Given the description of an element on the screen output the (x, y) to click on. 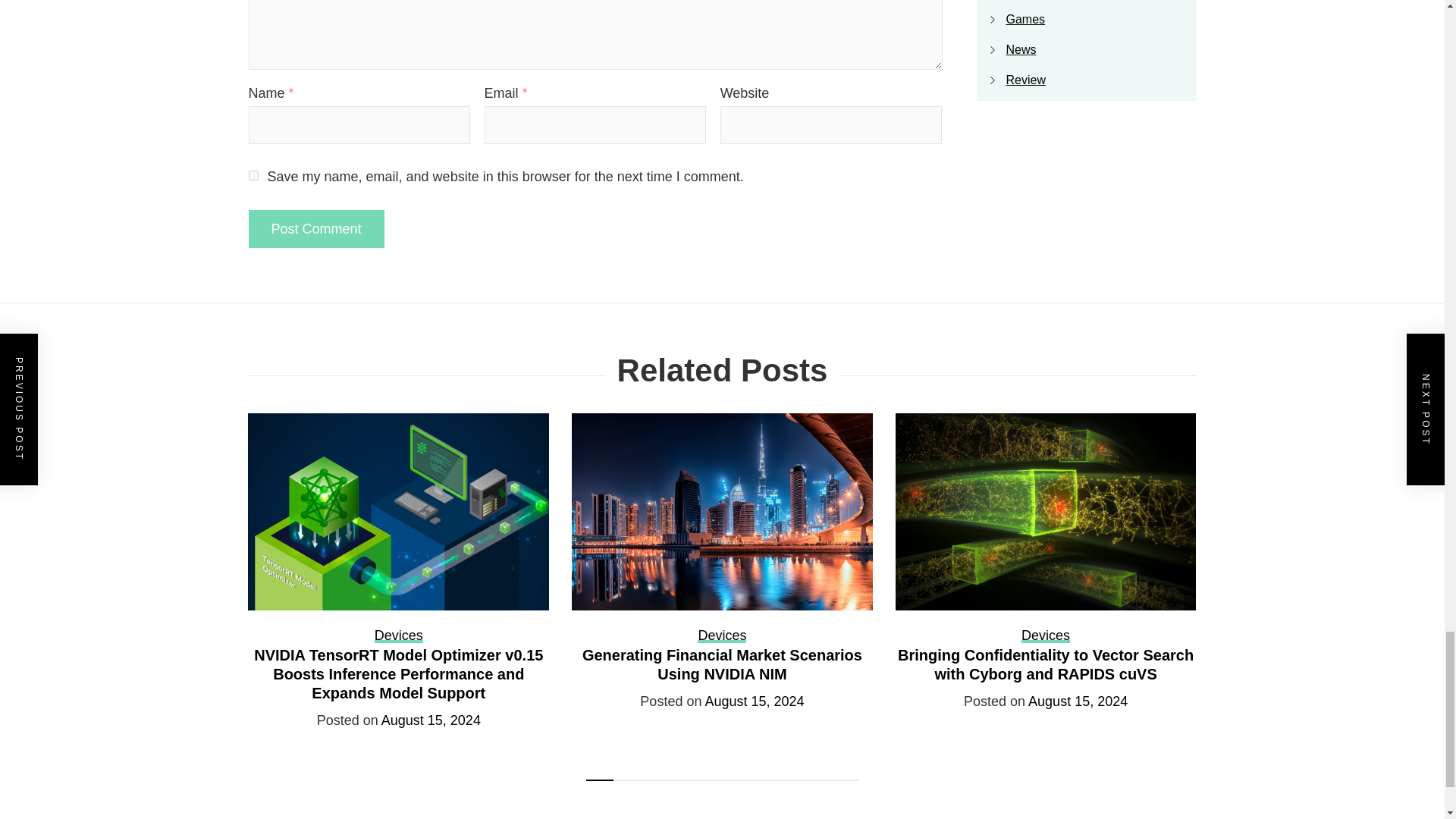
yes (253, 175)
Post Comment (316, 228)
Post Comment (316, 228)
